Given the description of an element on the screen output the (x, y) to click on. 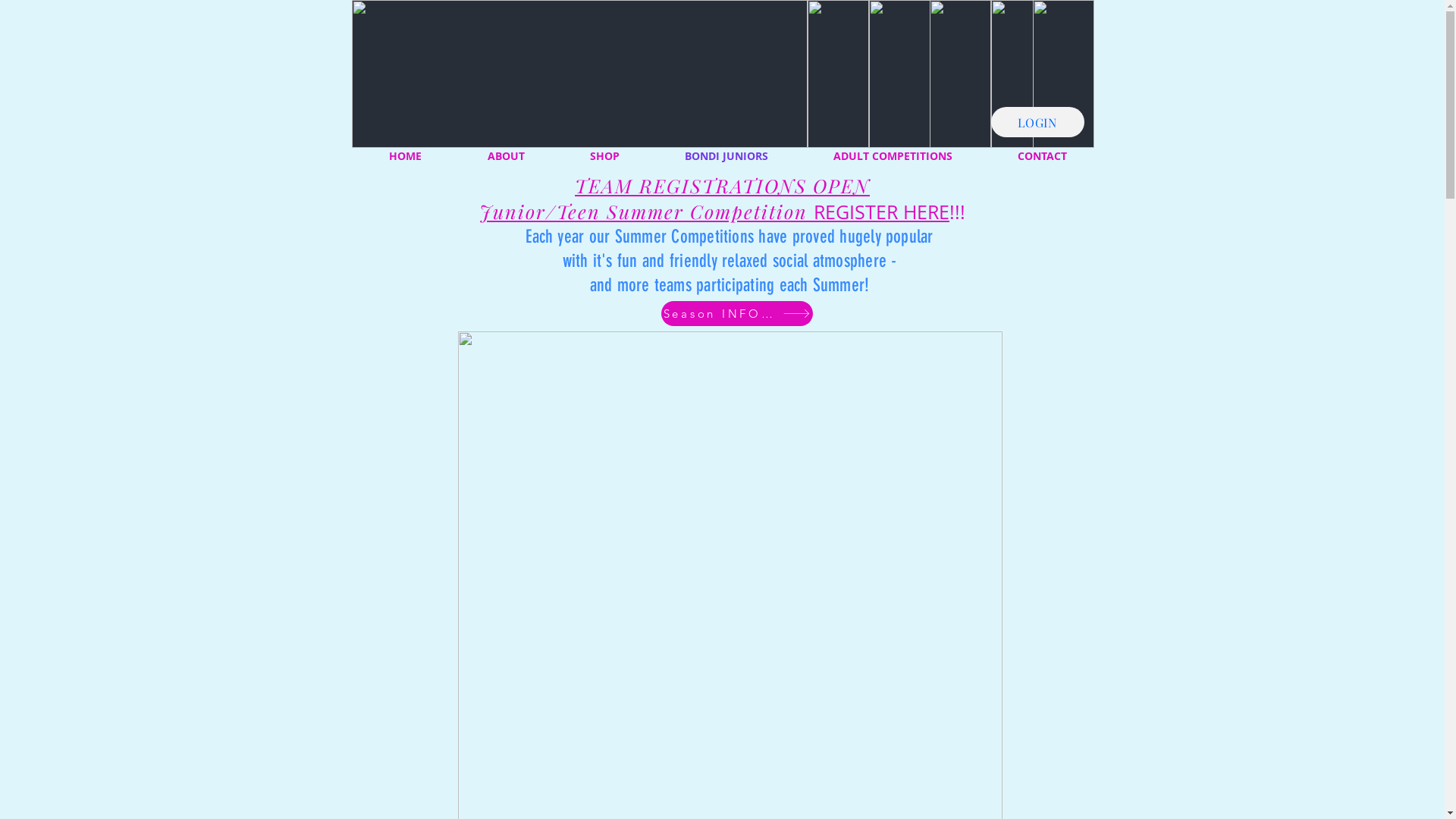
ADULT COMPETITIONS Element type: text (892, 156)
Season INFORMATION Element type: text (736, 313)
ABOUT Element type: text (506, 156)
BONDI JUNIORS Element type: text (726, 156)
SHOP Element type: text (603, 156)
CONTACT Element type: text (1041, 156)
REGISTER HERE Element type: text (881, 211)
LOGIN Element type: text (1036, 121)
TEAM REGISTRATIONS OPEN
Junior/Teen Summer Competition Element type: text (674, 197)
HOME Element type: text (405, 156)
